Given the description of an element on the screen output the (x, y) to click on. 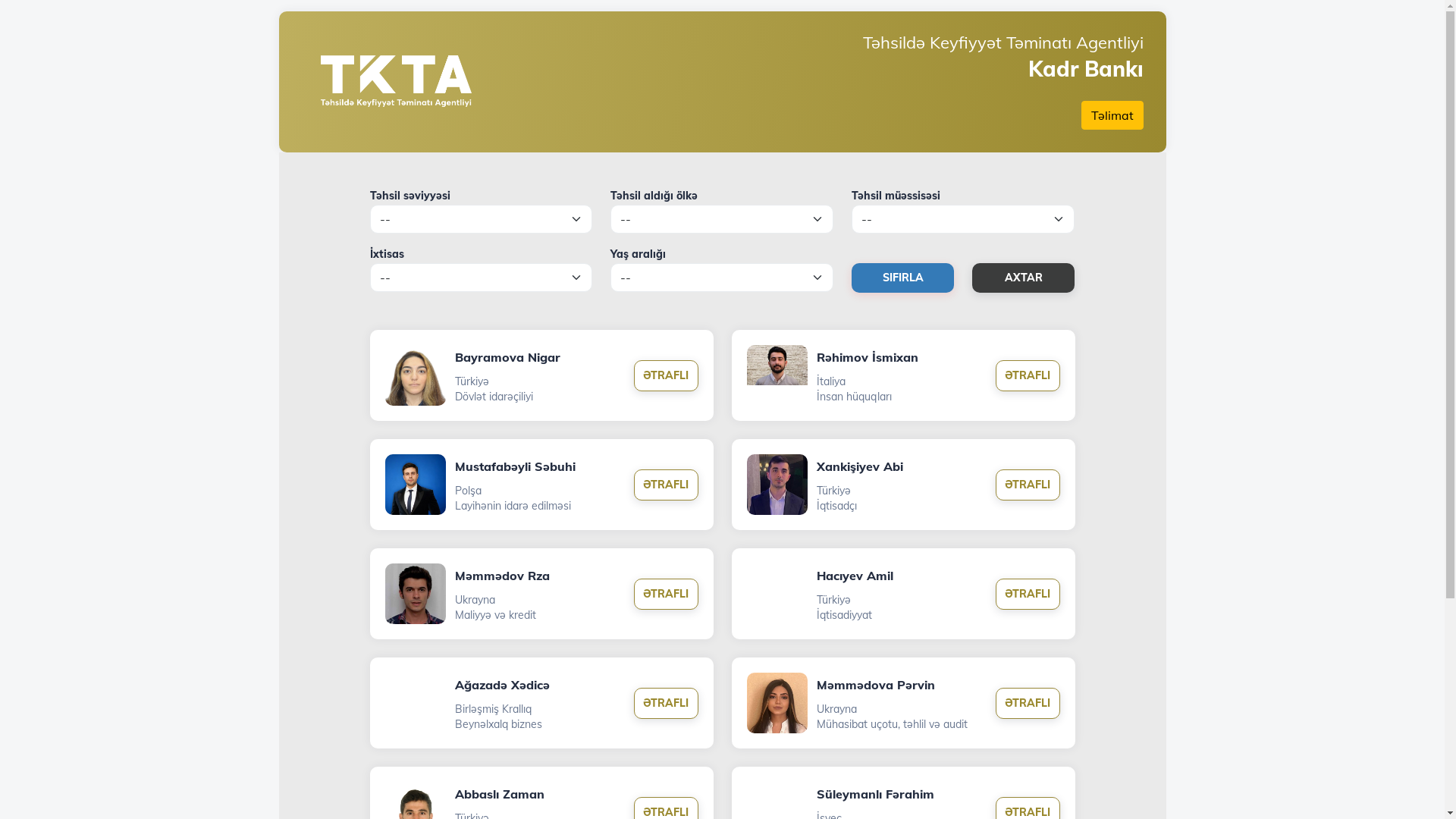
SIFIRLA Element type: text (902, 277)
AXTAR Element type: text (1023, 277)
